Given the description of an element on the screen output the (x, y) to click on. 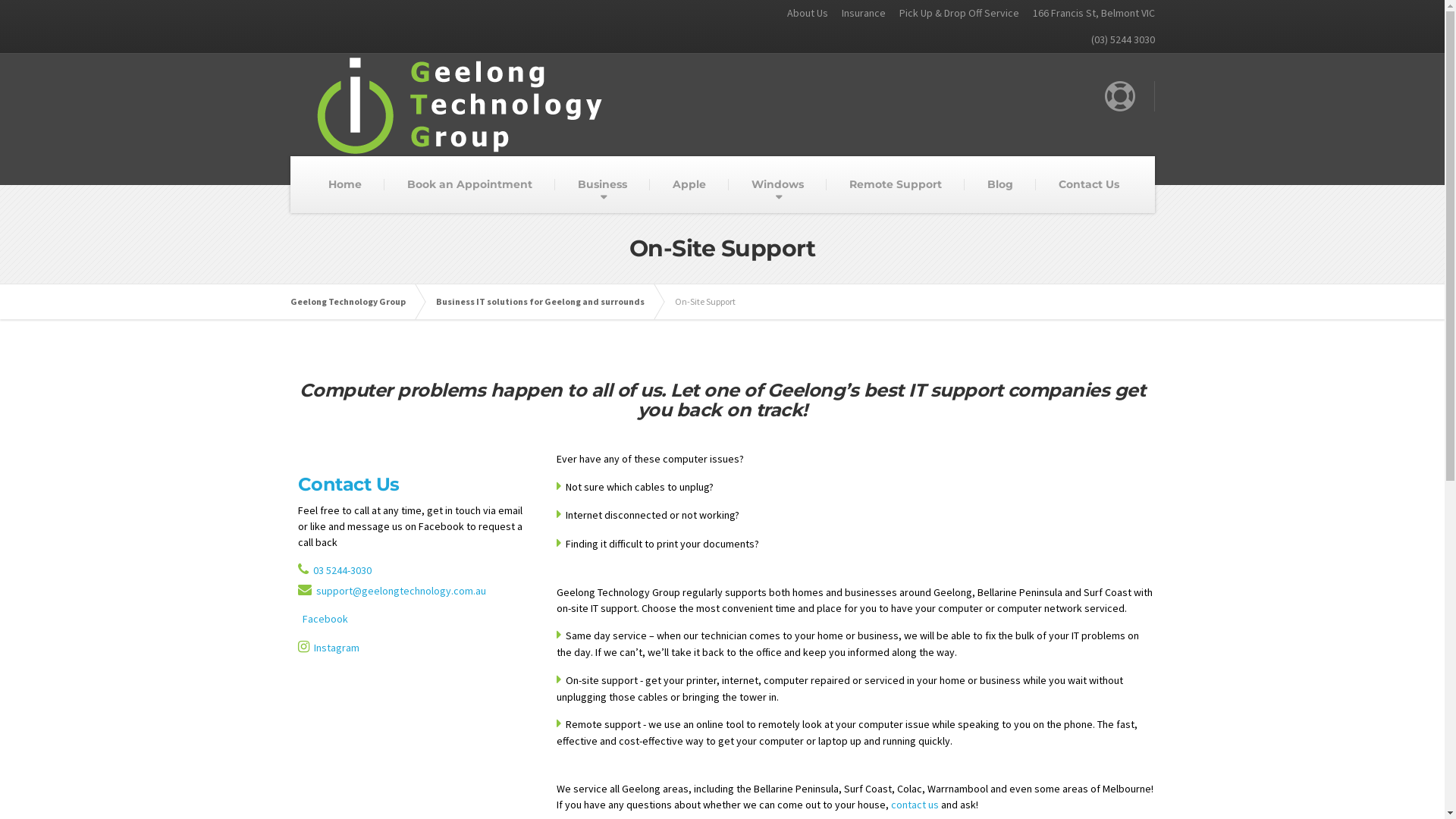
Blog Element type: text (999, 184)
Contact Us Element type: text (1088, 184)
Book an Appointment Element type: text (469, 184)
Instagram Element type: text (336, 647)
Facebook Element type: text (324, 618)
03 5244-3030 Element type: text (341, 570)
Geelong Technology Group Element type: text (354, 301)
(03) 5244 3030 Element type: text (1116, 39)
Home Element type: text (344, 184)
About Us Element type: text (801, 13)
support@geelongtechnology.com.au Element type: text (400, 590)
166 Francis St, Belmont VIC Element type: text (1087, 13)
Insurance Element type: text (856, 13)
Business Element type: text (602, 184)
Contact Us Element type: text (347, 484)
Apple Element type: text (688, 184)
contact us Element type: text (914, 804)
Business IT solutions for Geelong and surrounds Element type: text (546, 301)
Pick Up & Drop Off Service Element type: text (952, 13)
Windows Element type: text (777, 184)
Remote Support Element type: text (895, 184)
